Given the description of an element on the screen output the (x, y) to click on. 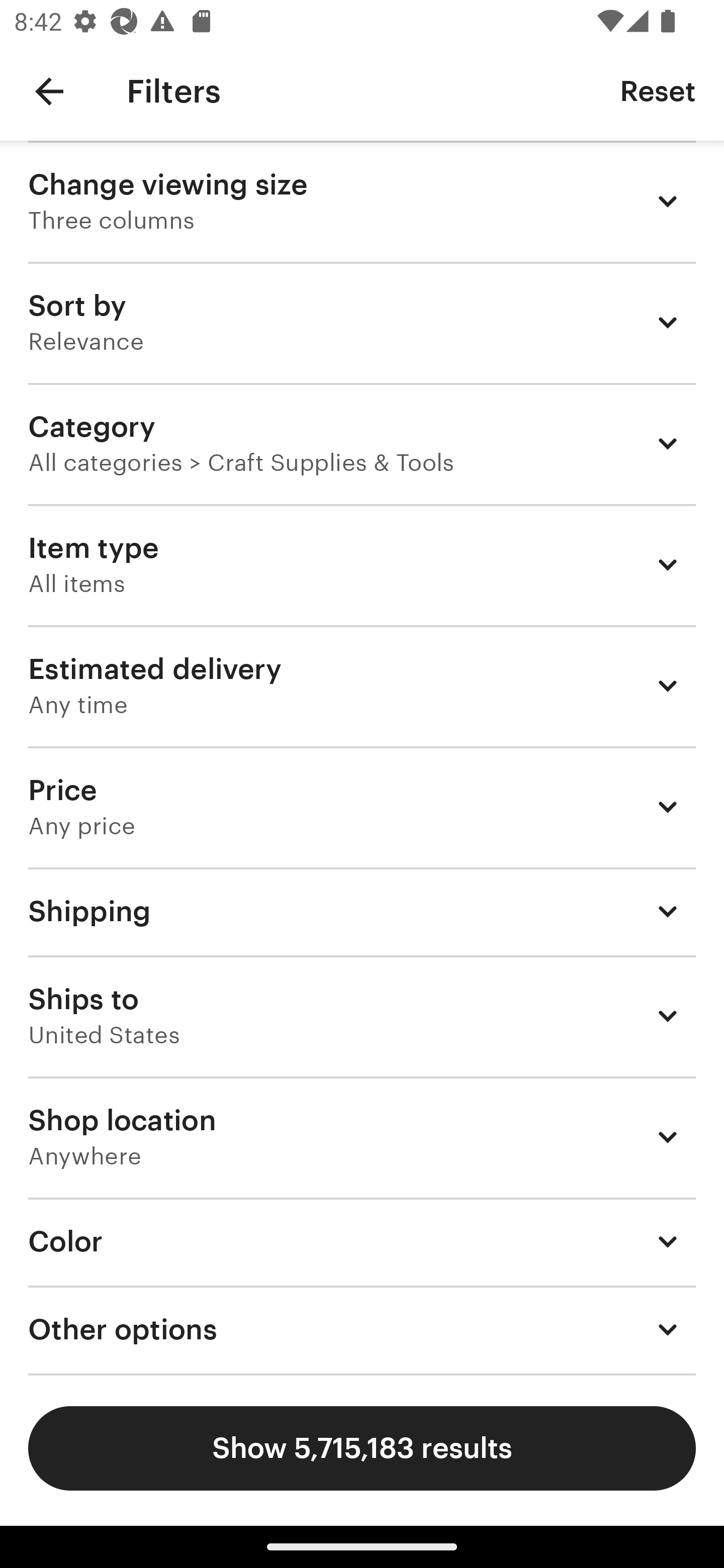
Navigate up (49, 91)
Reset (657, 90)
Change viewing size Three columns (362, 201)
Sort by Relevance (362, 321)
Category All categories > Craft Supplies & Tools (362, 442)
Item type All items (362, 564)
Estimated delivery Any time (362, 685)
Price Any price (362, 806)
Shipping (362, 910)
Ships to United States (362, 1015)
Shop location Anywhere (362, 1137)
Color (362, 1241)
Other options (362, 1329)
Show 5,715,183 results Show results (361, 1448)
